Given the description of an element on the screen output the (x, y) to click on. 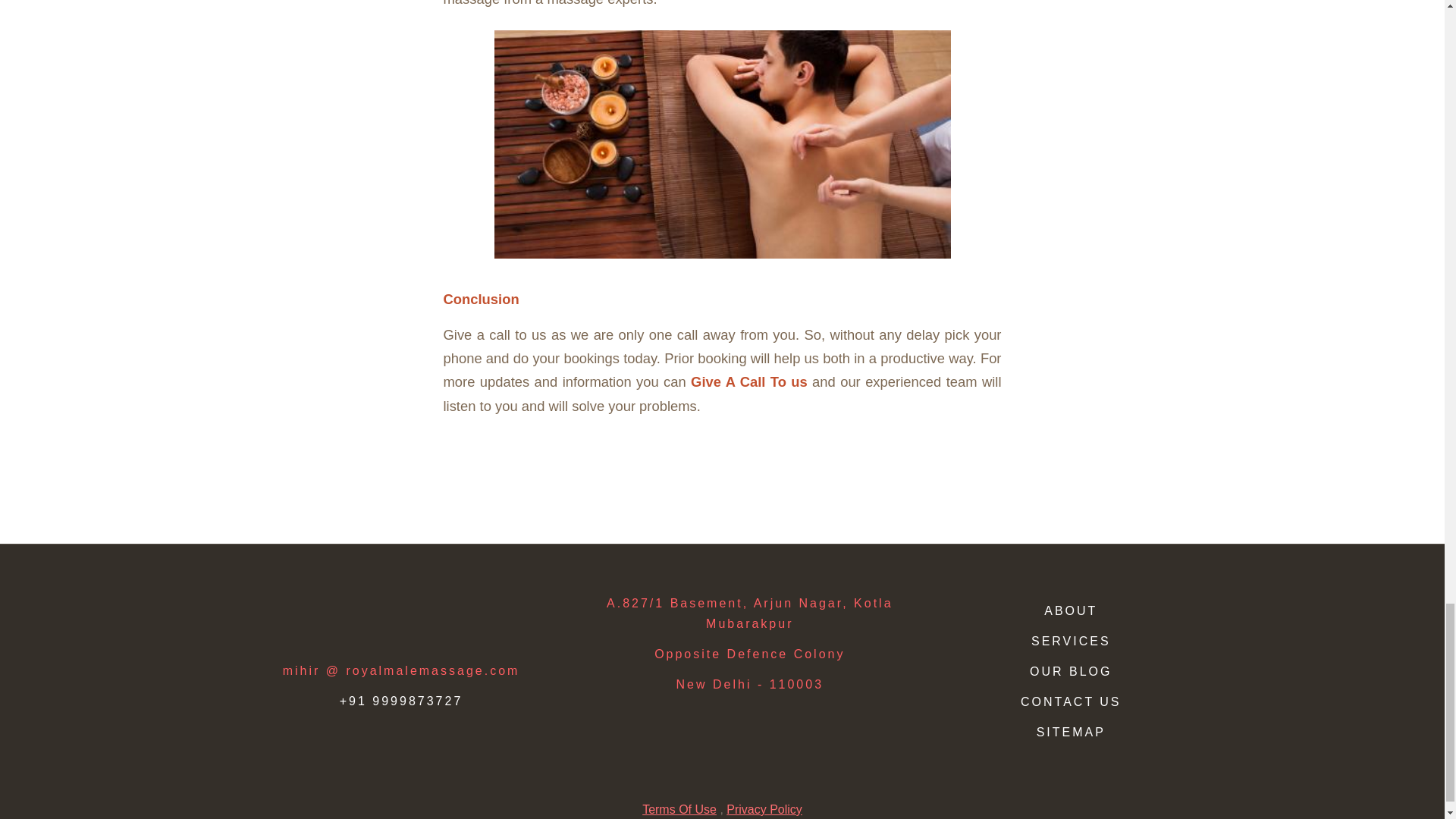
Privacy Policy (764, 809)
Facebook (320, 607)
OUR BLOG (1070, 671)
CONTACT US (1070, 701)
Terms Of Use (679, 809)
Pinterest (481, 607)
Privacy Policy (764, 809)
ABOUT (1070, 610)
Terms Of Use (679, 809)
Twitter (361, 607)
